Given the description of an element on the screen output the (x, y) to click on. 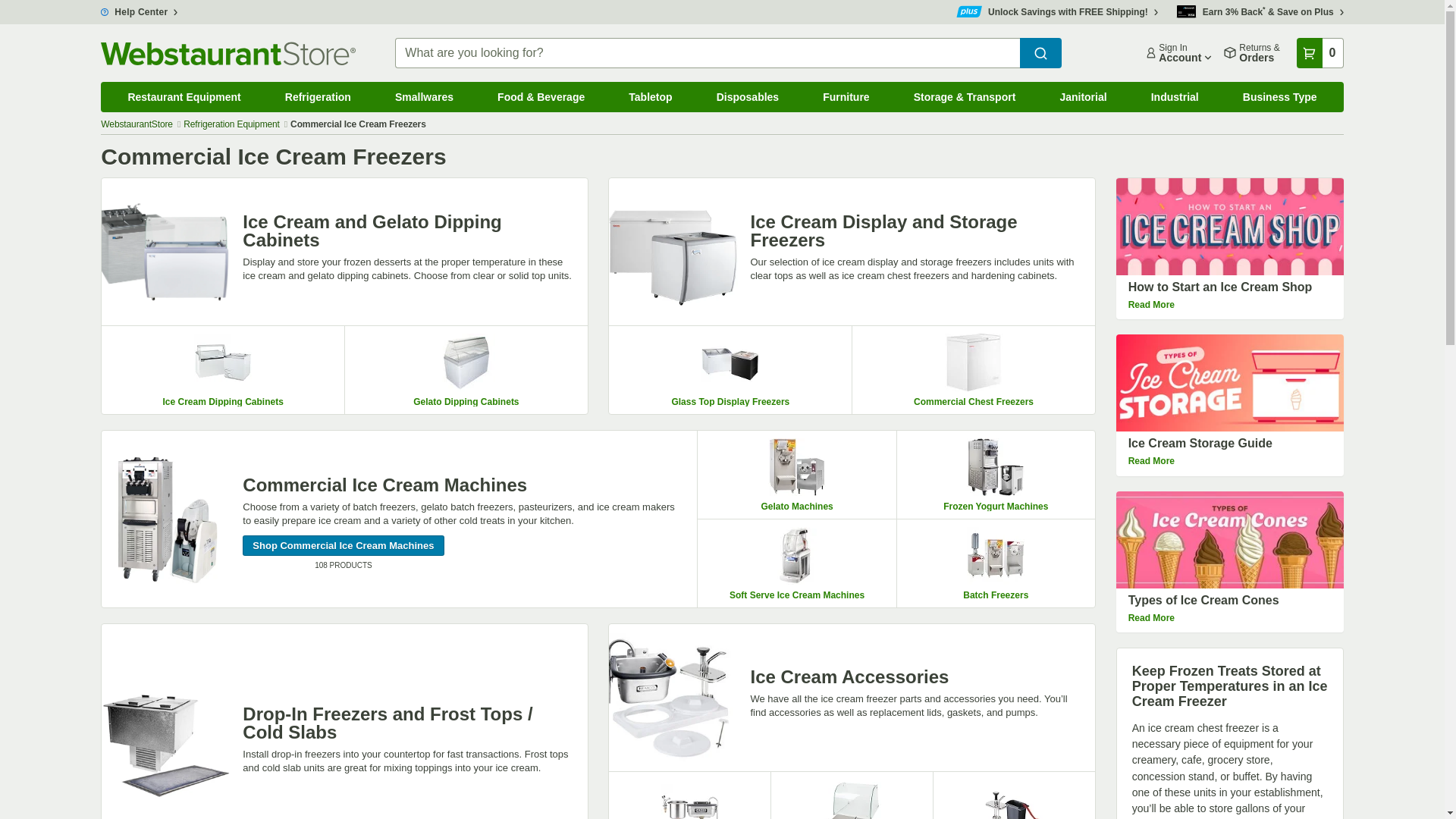
show submenu for Refrigeration (378, 87)
Refrigeration (317, 96)
show submenu for Furniture (897, 87)
show submenu for Tabletop (700, 87)
Search WebstaurantStore (1040, 52)
Janitorial (1082, 96)
Tabletop (650, 96)
Business Type (1280, 96)
Disposables (748, 96)
show submenu for Disposables (806, 87)
Unlock Savings with FREE Shipping! (1056, 11)
Furniture (845, 96)
Help Center (138, 11)
show submenu for Industrial (1227, 87)
Smallwares (424, 96)
